Given the description of an element on the screen output the (x, y) to click on. 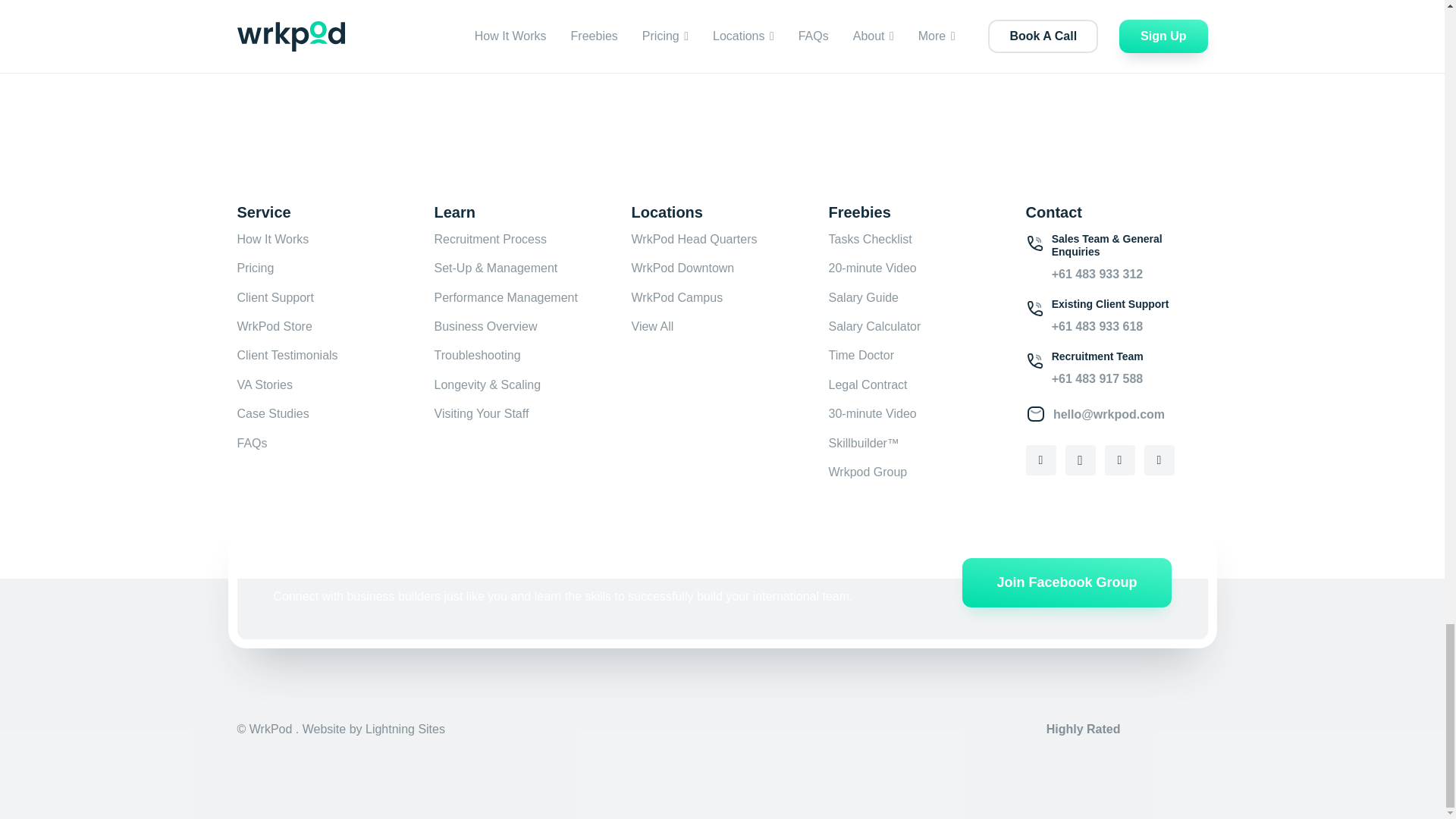
LinkedIn (1118, 460)
Instagram (1079, 460)
How It Works (271, 238)
Book a Strategy Call (815, 8)
Facebook (1040, 460)
Pricing (254, 267)
TikTok (1157, 460)
